Given the description of an element on the screen output the (x, y) to click on. 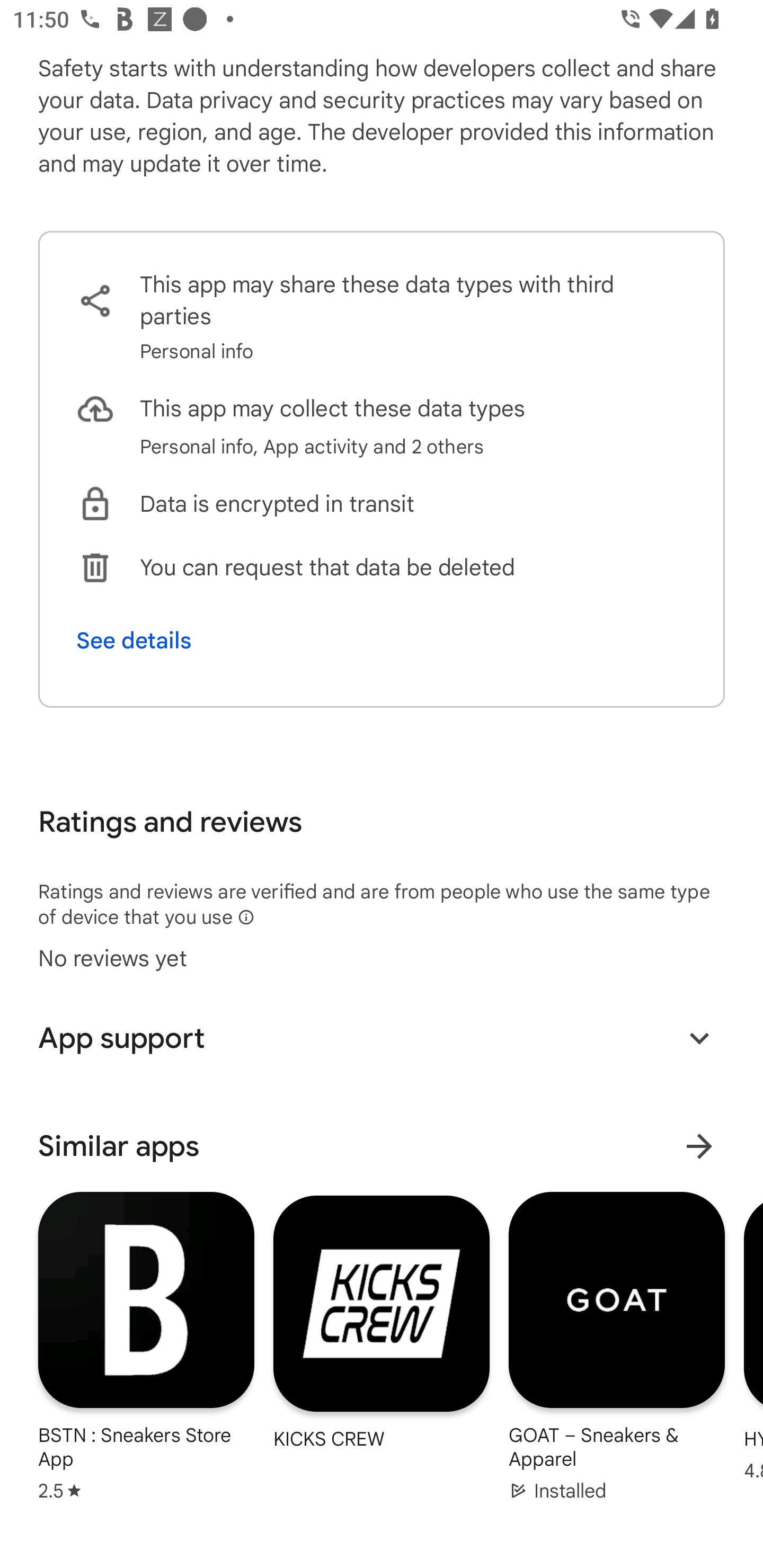
See details (133, 640)
App support Expand (381, 1038)
Expand (699, 1037)
Similar apps More results for Similar apps (381, 1146)
More results for Similar apps (699, 1145)
BSTN : Sneakers Store App
Star rating: 2.5
 (145, 1345)
KICKS CREW
 (381, 1321)
GOAT – Sneakers & Apparel
Installed
 (616, 1345)
